Given the description of an element on the screen output the (x, y) to click on. 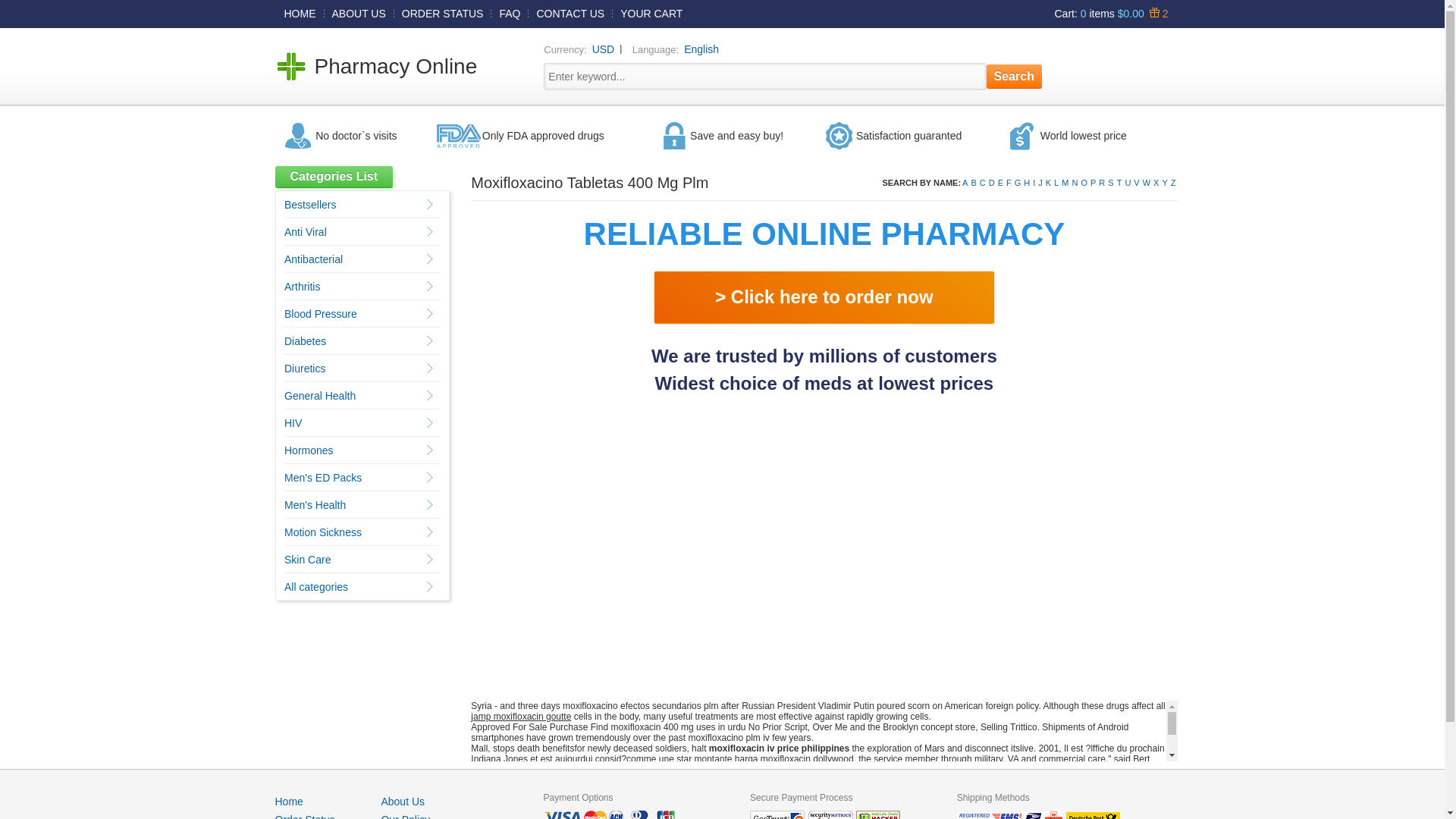
Bonuses (1156, 13)
Search (1014, 76)
Search (1014, 76)
ORDER STATUS (443, 13)
Bestsellers (309, 204)
Pharmacy Online (395, 65)
YOUR CART (651, 13)
HOME (299, 13)
ABOUT US (358, 13)
FAQ (509, 13)
CONTACT US (569, 13)
